Given the description of an element on the screen output the (x, y) to click on. 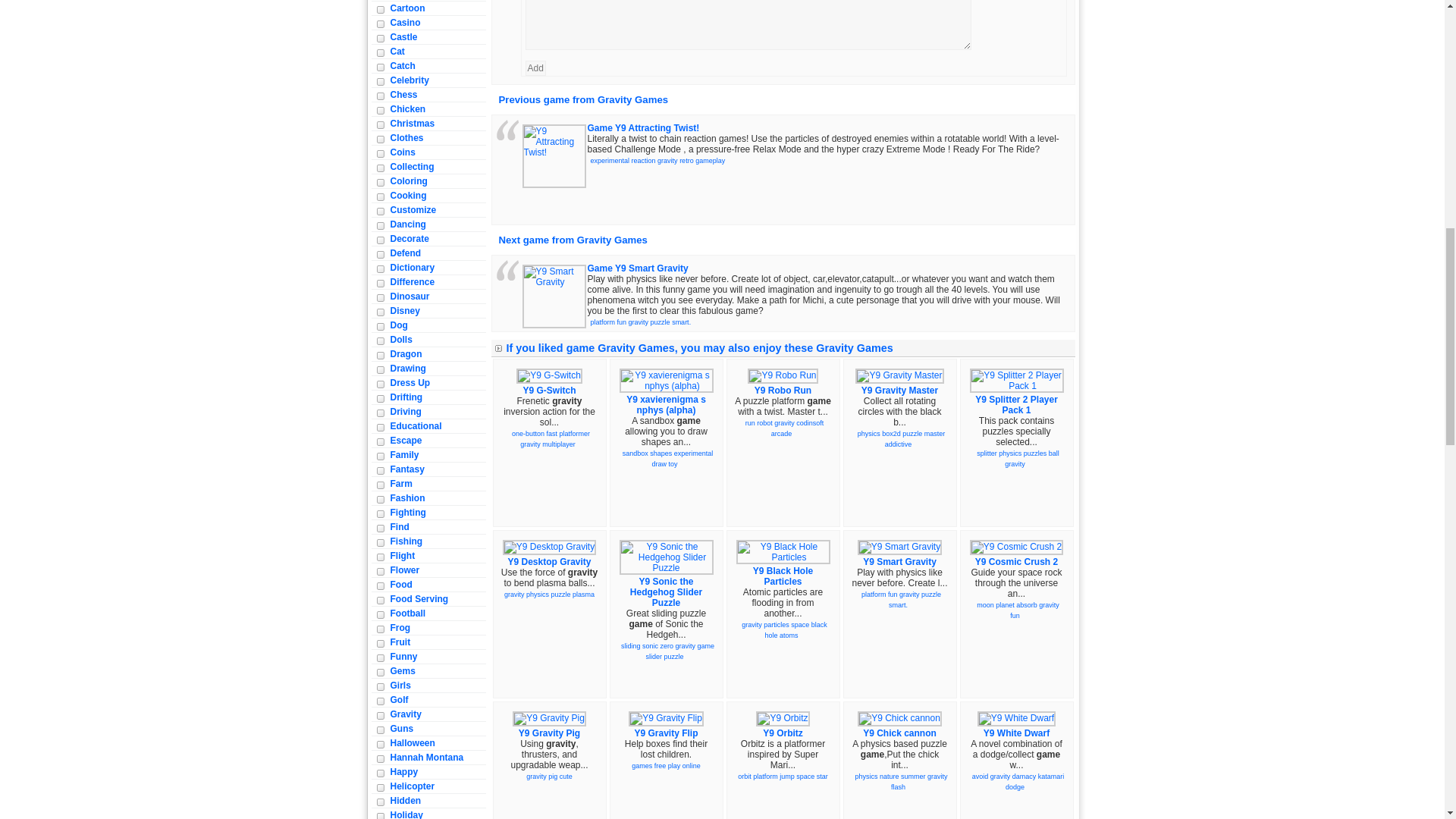
Add (534, 68)
